Given the description of an element on the screen output the (x, y) to click on. 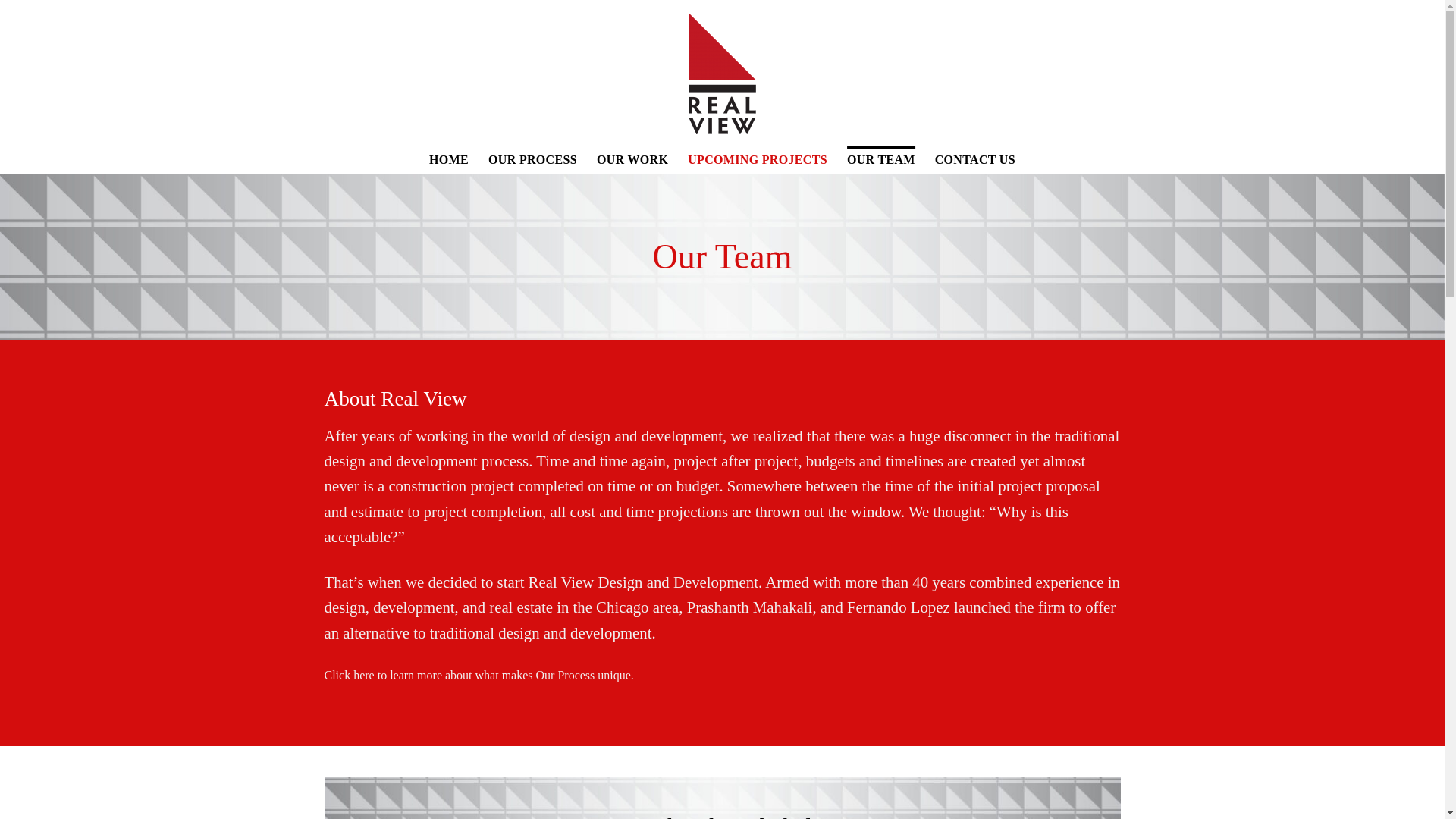
UPCOMING PROJECTS (757, 159)
OUR TEAM (881, 159)
CONTACT US (974, 159)
OUR PROCESS (531, 159)
HOME (448, 159)
OUR WORK (632, 159)
